Given the description of an element on the screen output the (x, y) to click on. 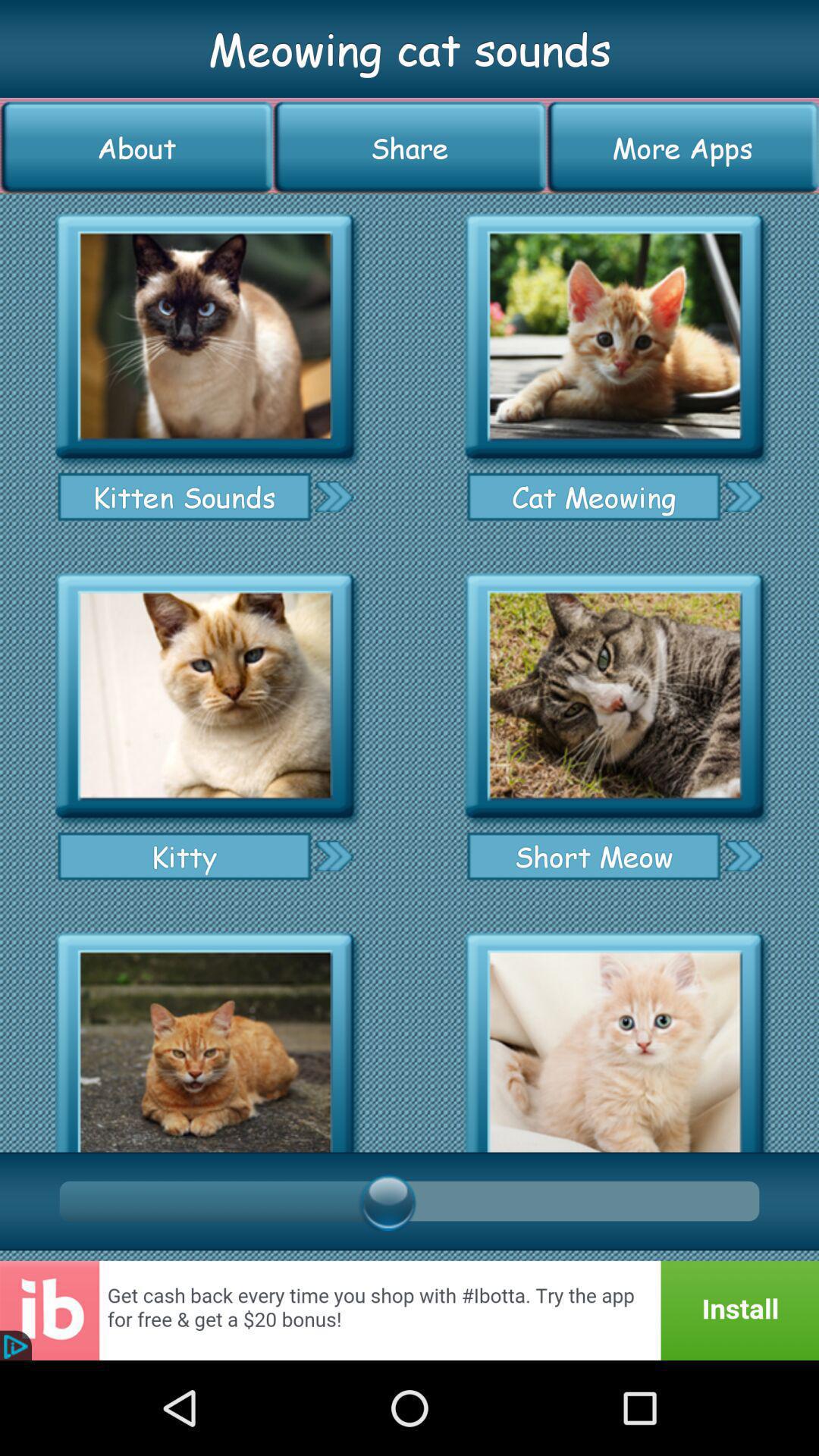
go to short meow sound (743, 855)
